Given the description of an element on the screen output the (x, y) to click on. 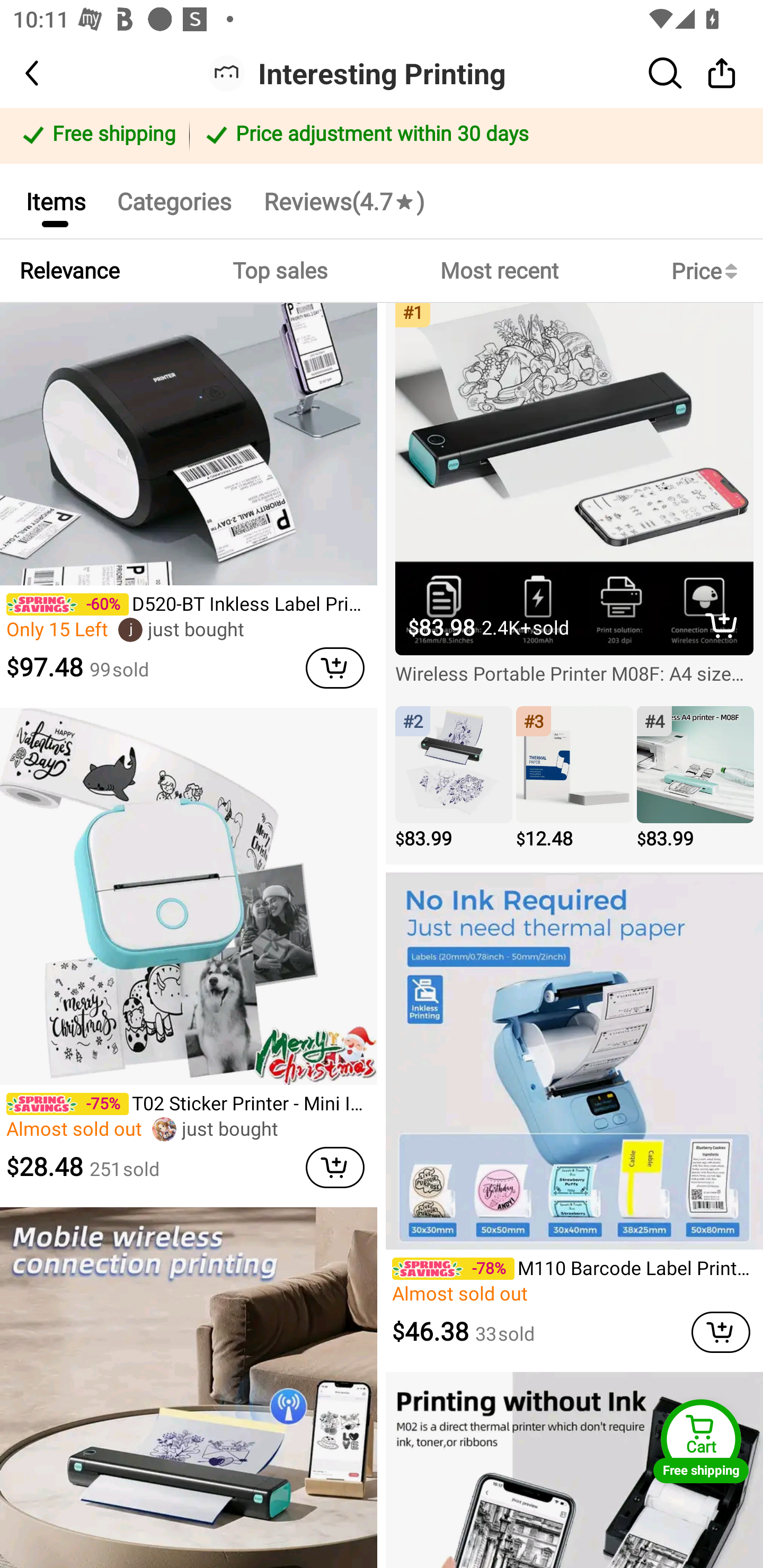
back (47, 72)
share (721, 72)
Free shipping (97, 135)
Price adjustment within 30 days (472, 135)
Items (55, 200)
Categories (174, 200)
Reviews(4.7 ) (343, 200)
Relevance (69, 270)
Top sales (279, 270)
Most recent (498, 270)
Price (707, 270)
delete (721, 624)
cart delete (334, 667)
#2 $83.99 (453, 778)
#3 $12.48 (574, 778)
#4 $83.99 (695, 778)
cart delete (334, 1167)
cart delete (720, 1331)
Cart Free shipping Cart (701, 1440)
